Given the description of an element on the screen output the (x, y) to click on. 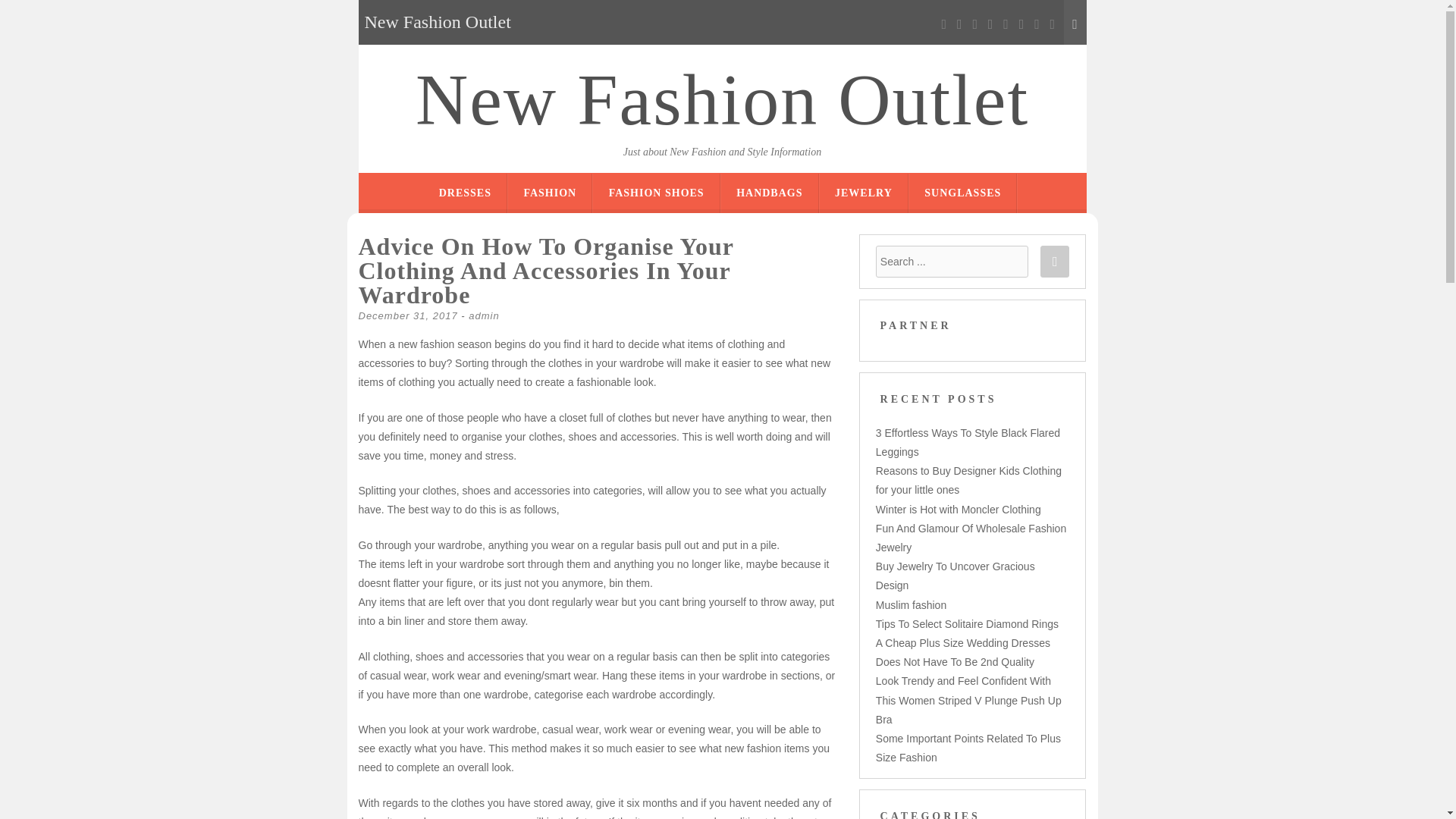
HANDBAGS (769, 192)
Muslim fashion (911, 604)
JEWELRY (863, 192)
Tips To Select Solitaire Diamond Rings (967, 623)
Buy Jewelry To Uncover Gracious Design (955, 575)
SKIP TO CONTENT (775, 182)
FASHION SHOES (656, 192)
Reasons to Buy Designer Kids Clothing for your little ones (968, 480)
3 Effortless Ways To Style Black Flared Leggings (967, 441)
December 31, 2017 (407, 315)
FASHION (549, 192)
New Fashion Outlet (721, 99)
DRESSES (465, 192)
Some Important Points Related To Plus Size Fashion (968, 747)
